Given the description of an element on the screen output the (x, y) to click on. 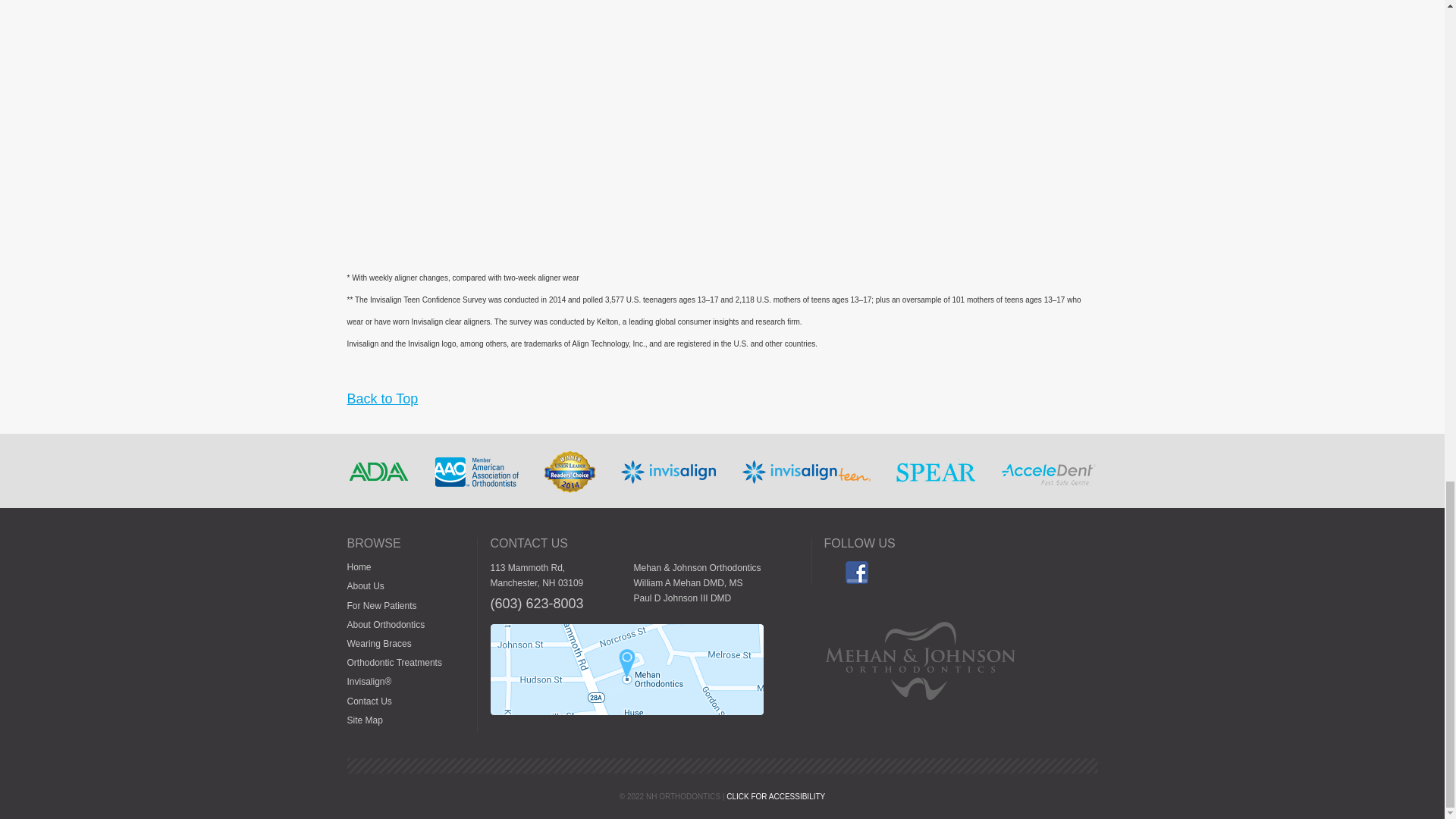
What Sets Us Apart (379, 472)
What Sets Us Apart (475, 472)
